Given the description of an element on the screen output the (x, y) to click on. 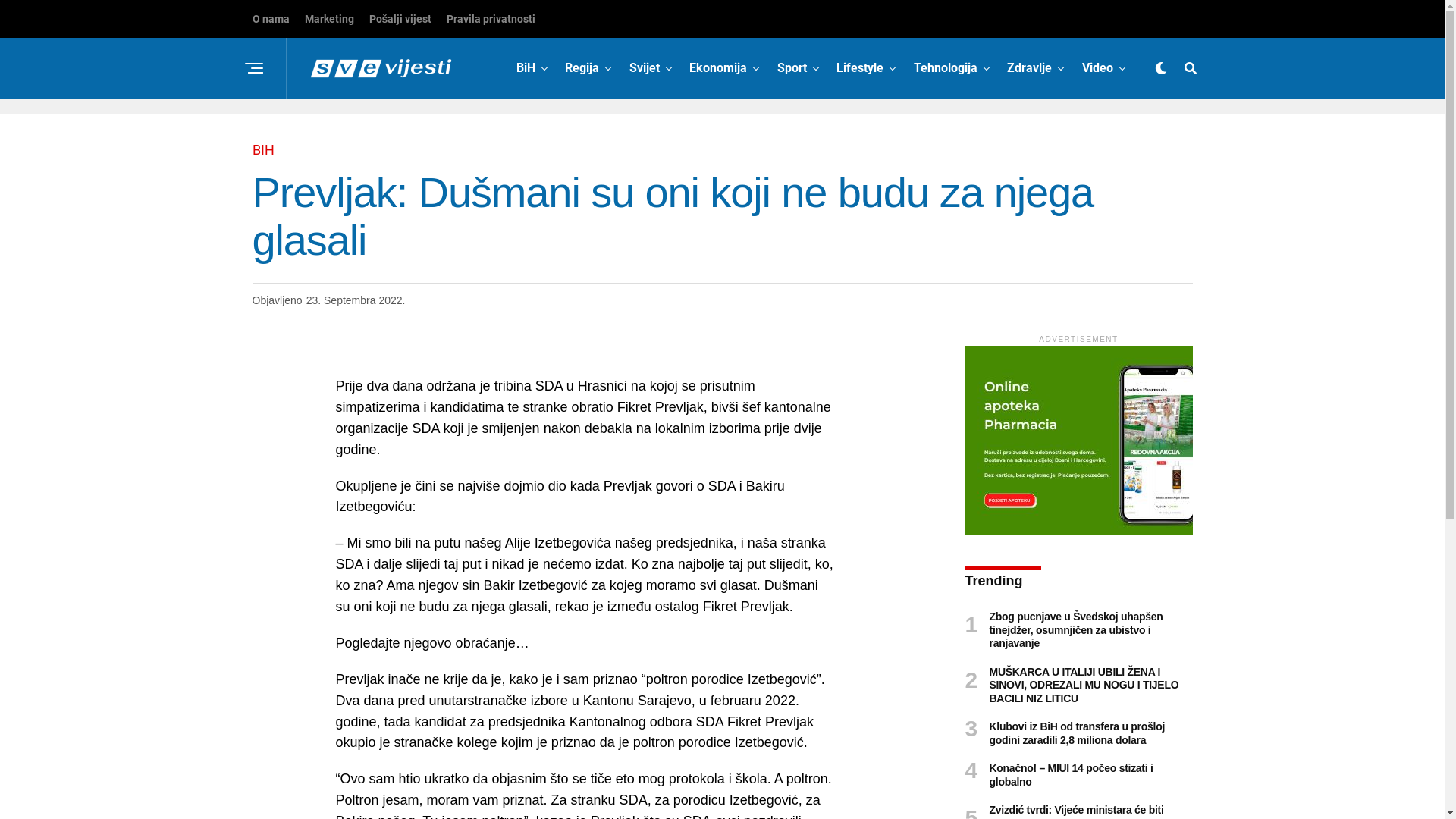
Zdravlje Element type: text (1029, 67)
Marketing Element type: text (329, 18)
O nama Element type: text (270, 18)
Regija Element type: text (581, 67)
Video Element type: text (1096, 67)
Svijet Element type: text (644, 67)
Ekonomija Element type: text (717, 67)
Sport Element type: text (791, 67)
Tehnologija Element type: text (945, 67)
Pravila privatnosti Element type: text (490, 18)
BIH Element type: text (262, 150)
BiH Element type: text (525, 67)
Lifestyle Element type: text (859, 67)
